Given the description of an element on the screen output the (x, y) to click on. 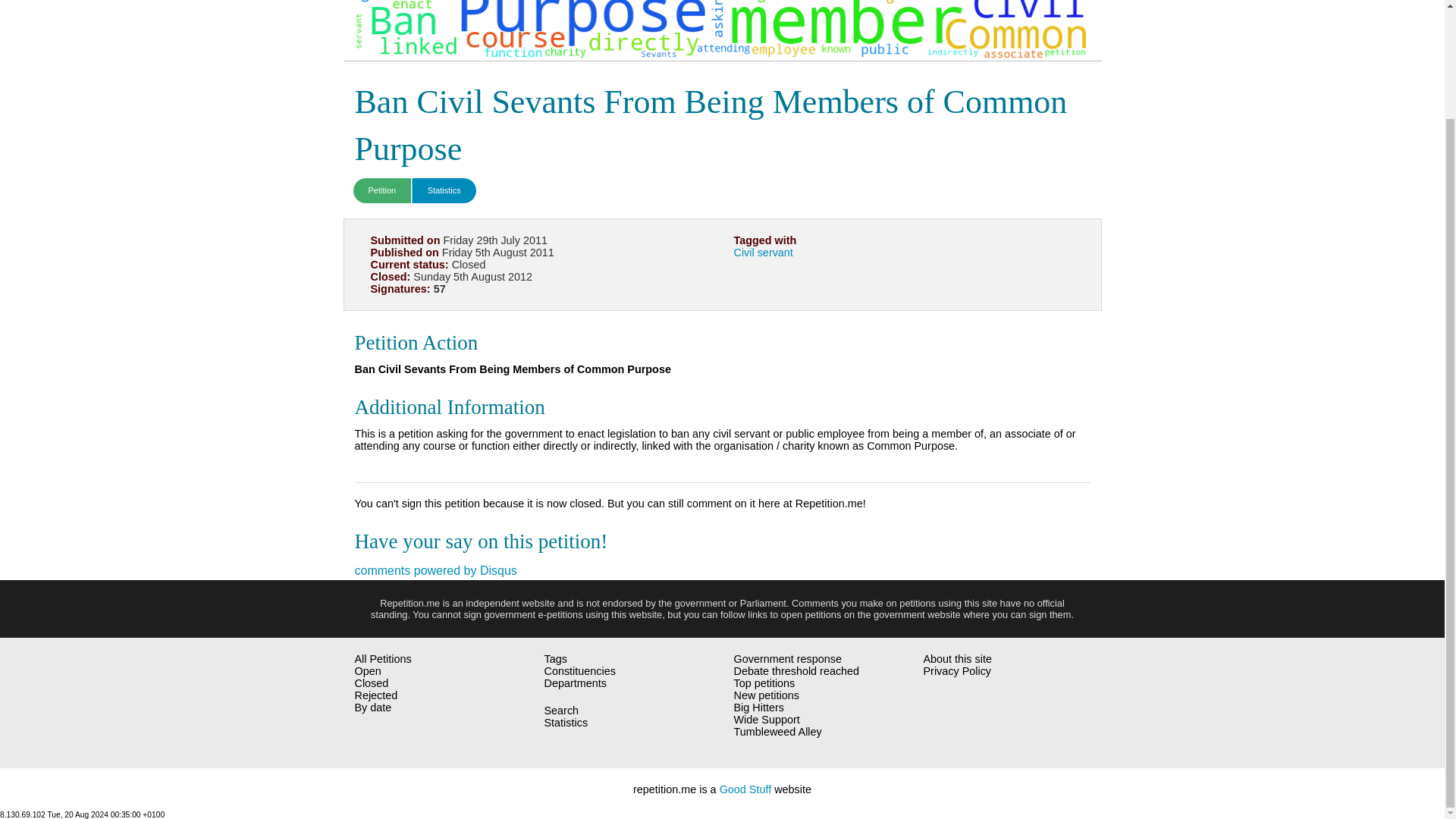
Departments (363, 8)
New petitions (296, 204)
Rejected (376, 695)
Statistics (363, 33)
comments powered by Disqus (435, 570)
Top petitions (296, 170)
Petition (382, 190)
Statistics (444, 190)
Government response (296, 101)
Open (368, 671)
